Given the description of an element on the screen output the (x, y) to click on. 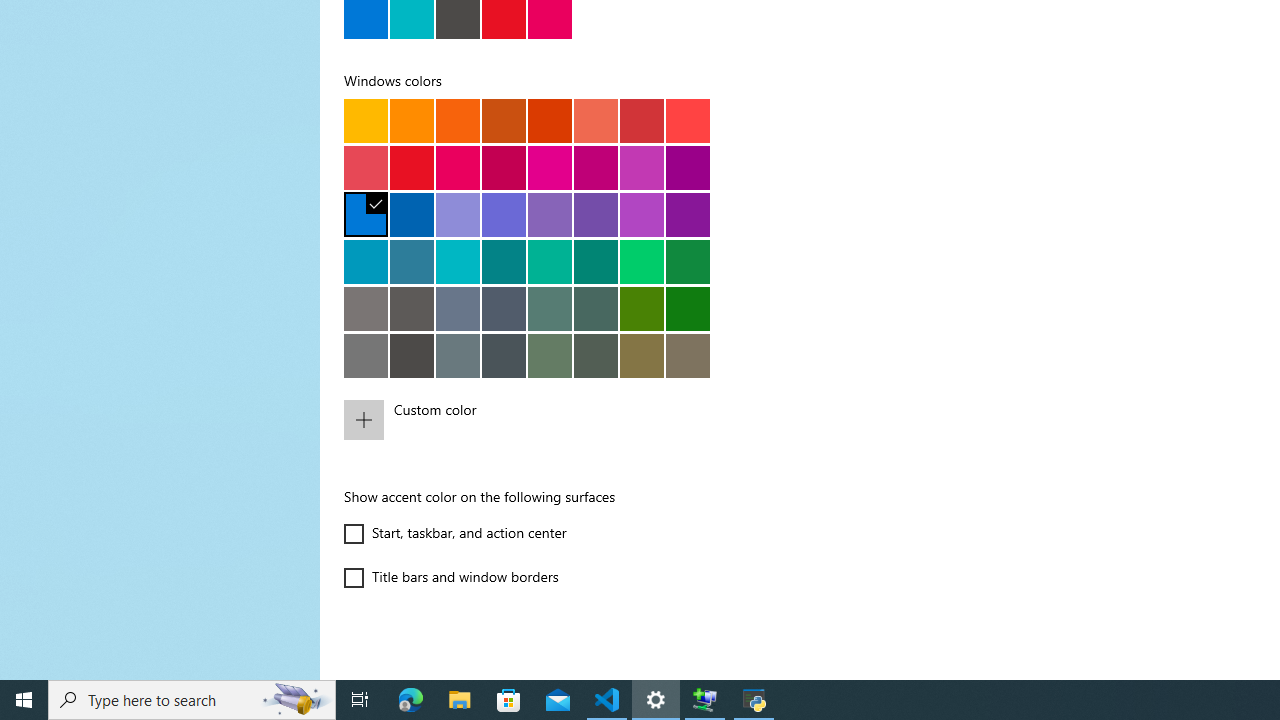
Meadow green (641, 308)
Title bars and window borders (451, 578)
